Given the description of an element on the screen output the (x, y) to click on. 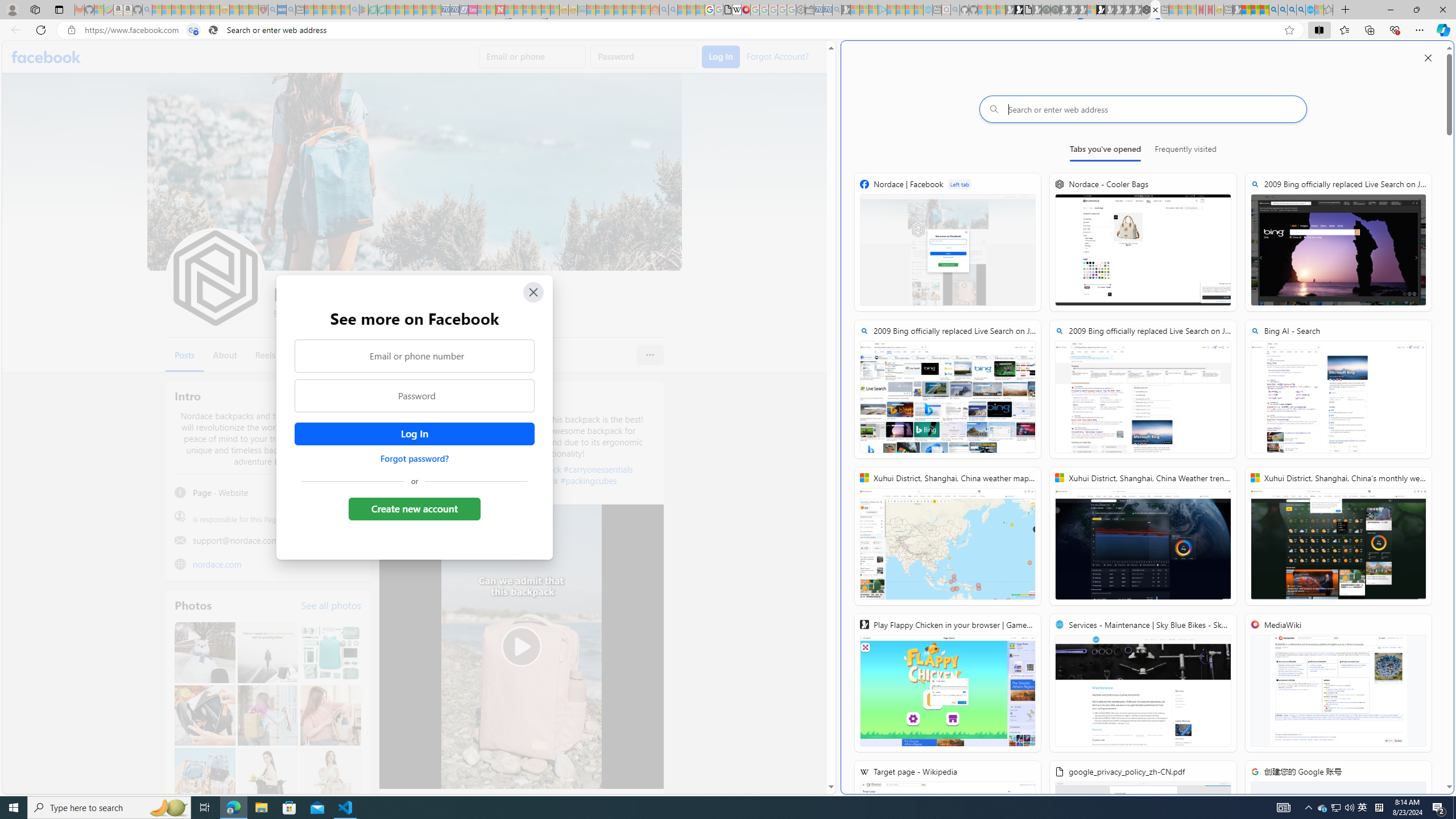
The Weather Channel - MSN - Sleeping (175, 9)
Sign in to your account - Sleeping (1090, 9)
Close split screen (1428, 57)
Terms of Use Agreement - Sleeping (372, 9)
Nordace - Cooler Bags (1142, 242)
Target page - Wikipedia (736, 9)
